Given the description of an element on the screen output the (x, y) to click on. 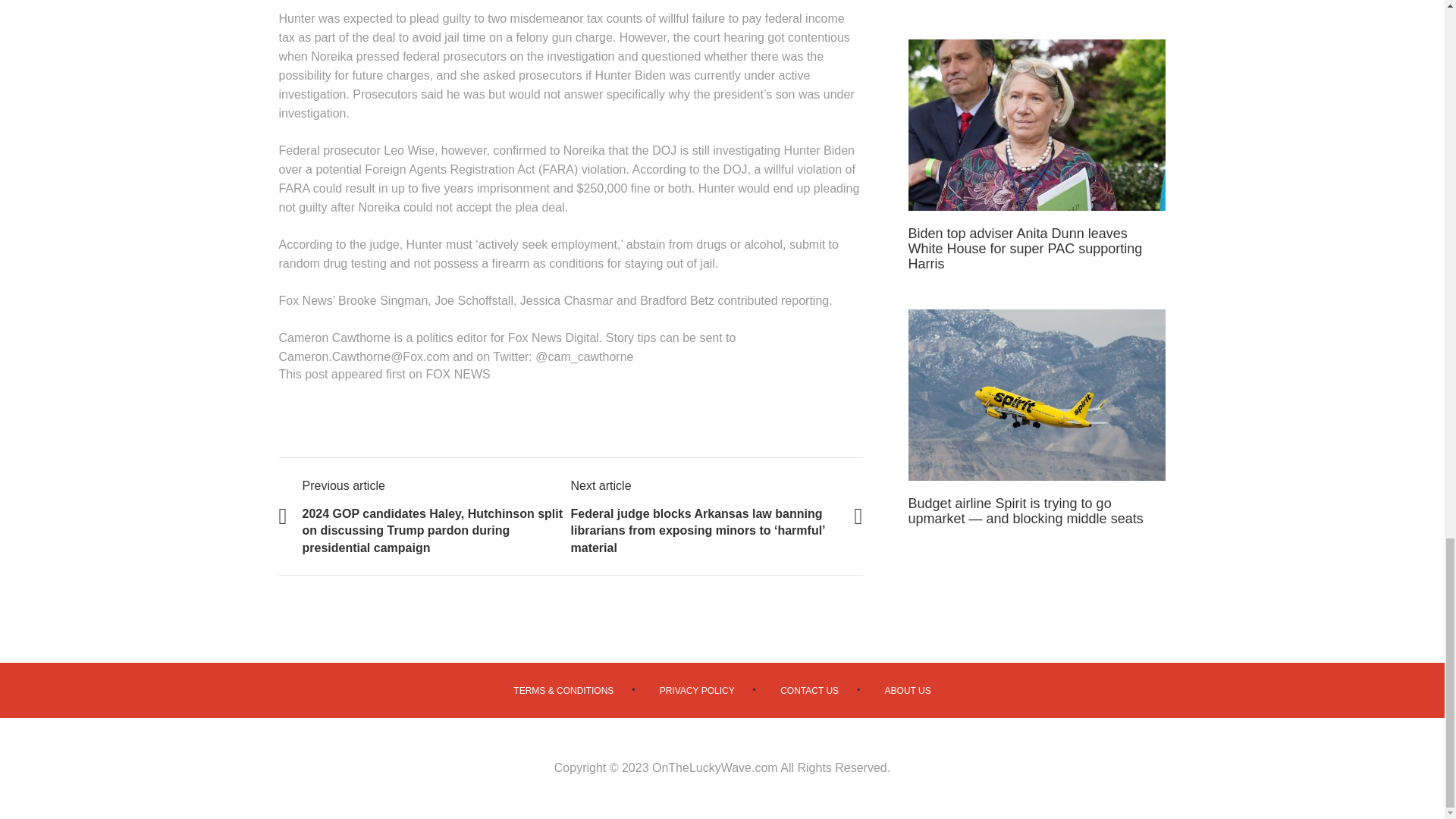
CONTACT US (809, 690)
PRIVACY POLICY (697, 690)
ABOUT US (908, 690)
